Given the description of an element on the screen output the (x, y) to click on. 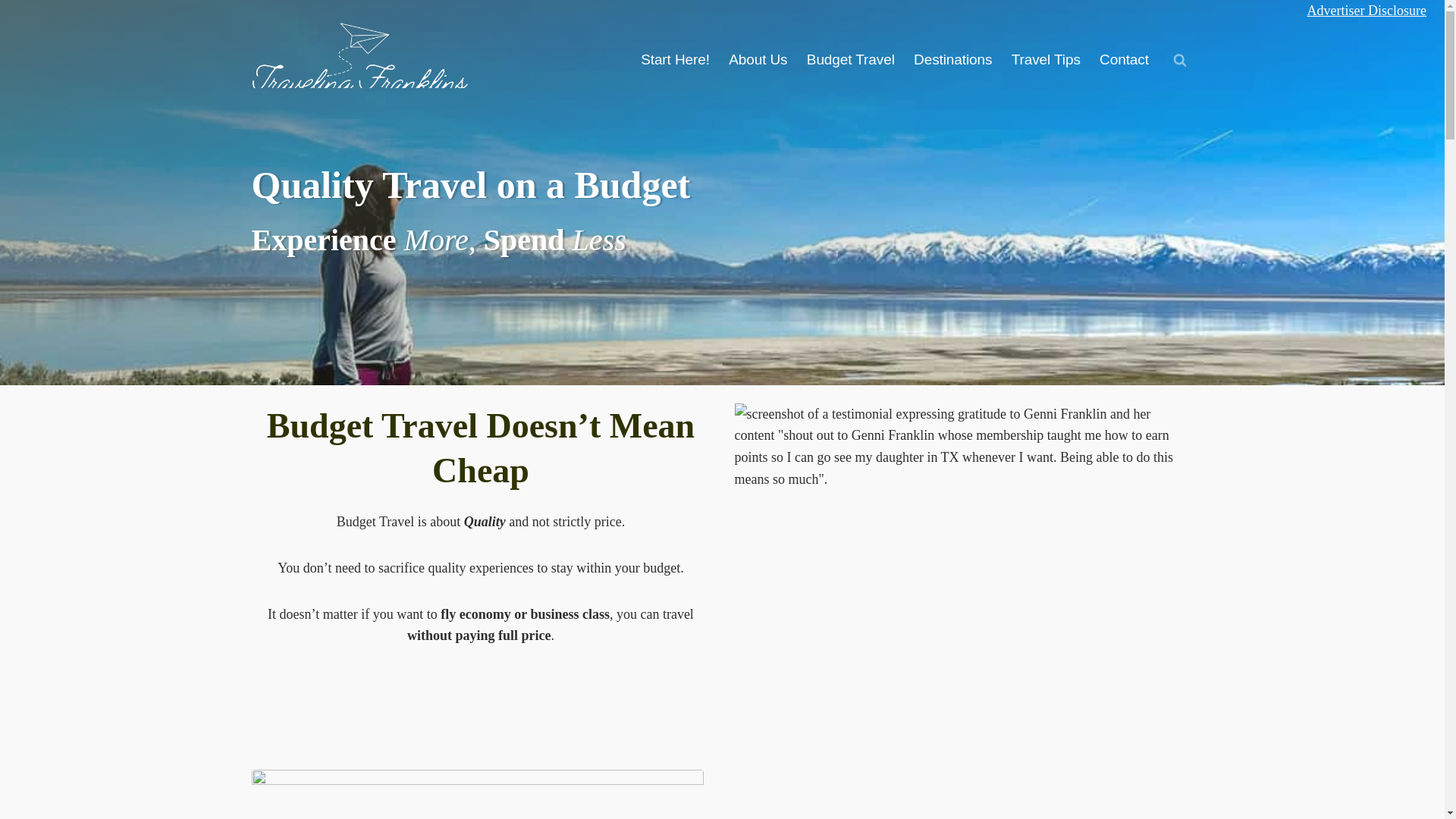
Advertiser Disclosure (1366, 10)
Budget Travel (850, 60)
Destinations (952, 60)
Contact (1123, 60)
About Us (758, 60)
Start Here! (674, 60)
Travel Tips (1045, 60)
